Given the description of an element on the screen output the (x, y) to click on. 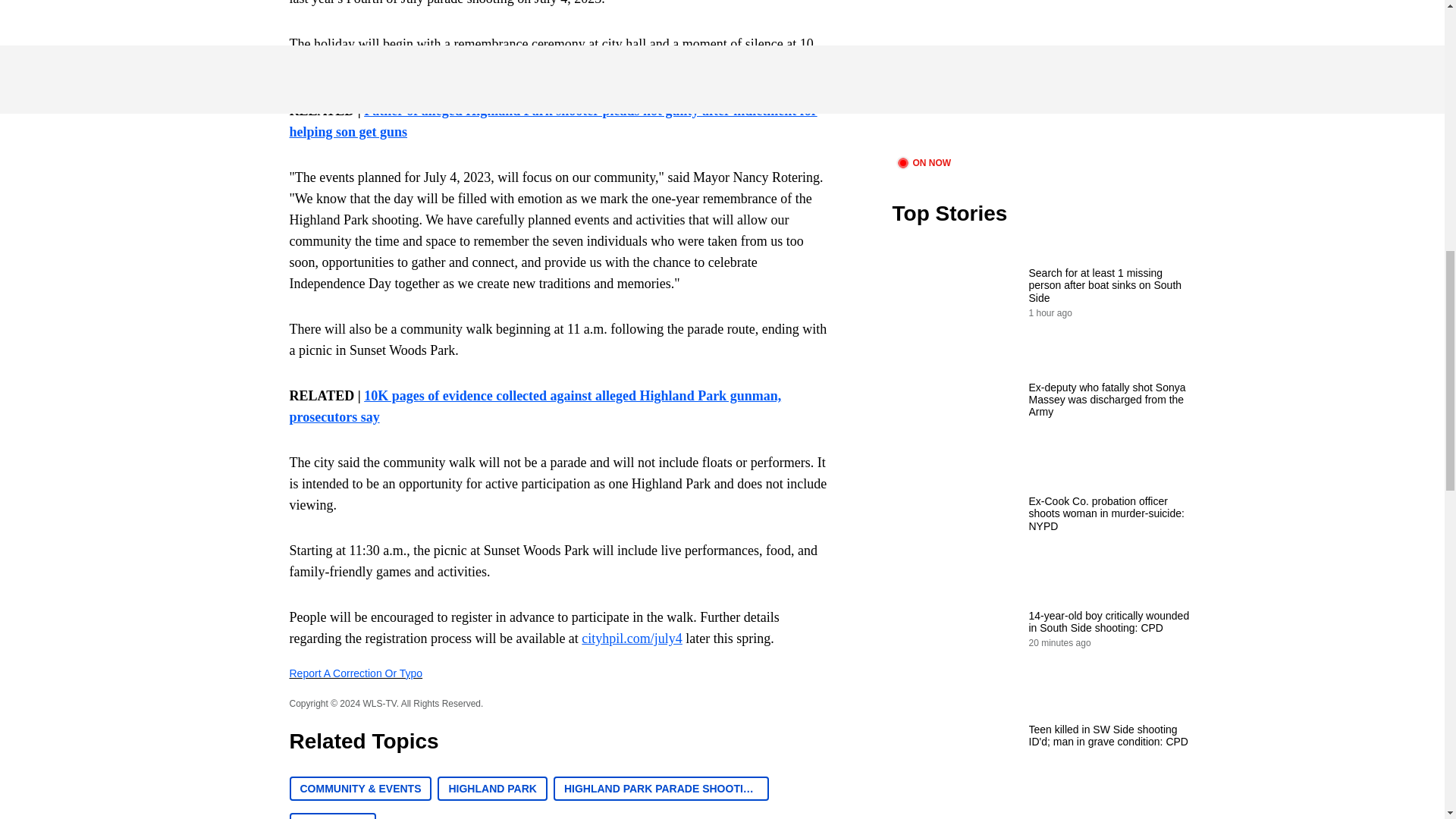
video.title (1043, 76)
